Given the description of an element on the screen output the (x, y) to click on. 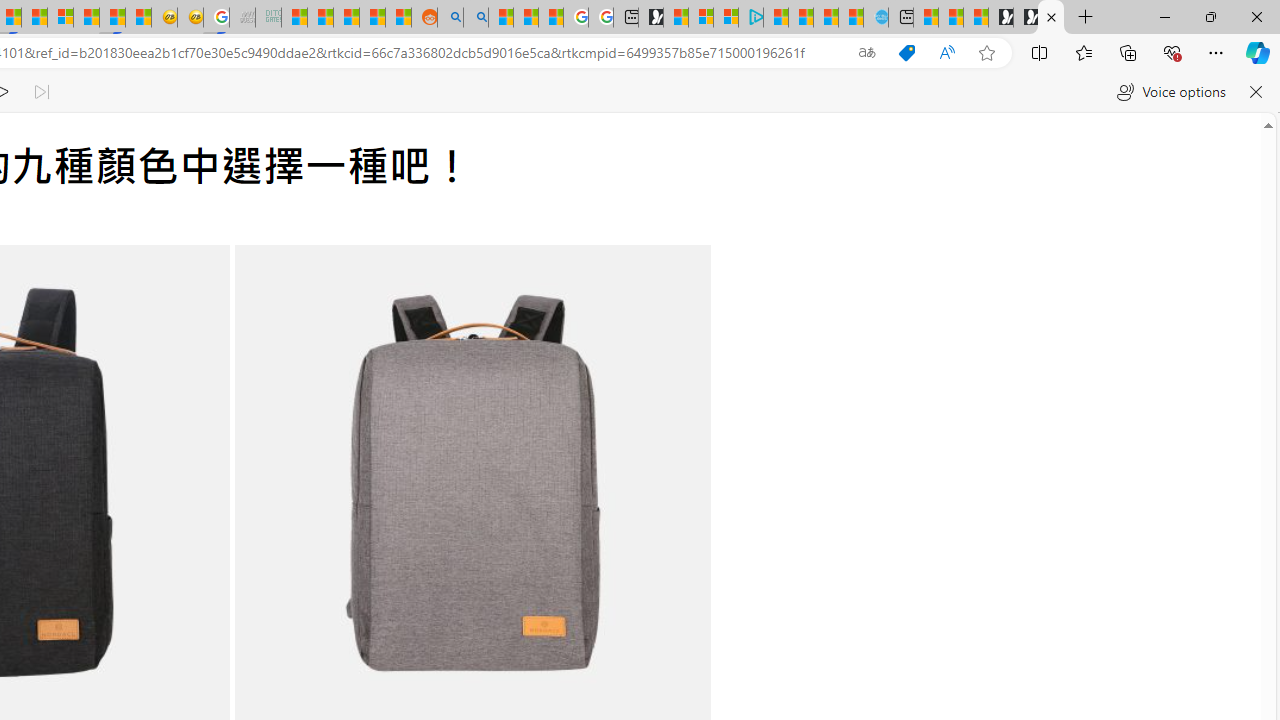
Close read aloud (1255, 92)
DITOGAMES AG Imprint - Sleeping (268, 17)
Voice options (1170, 92)
Read next paragraph (40, 92)
Next (658, 501)
